Given the description of an element on the screen output the (x, y) to click on. 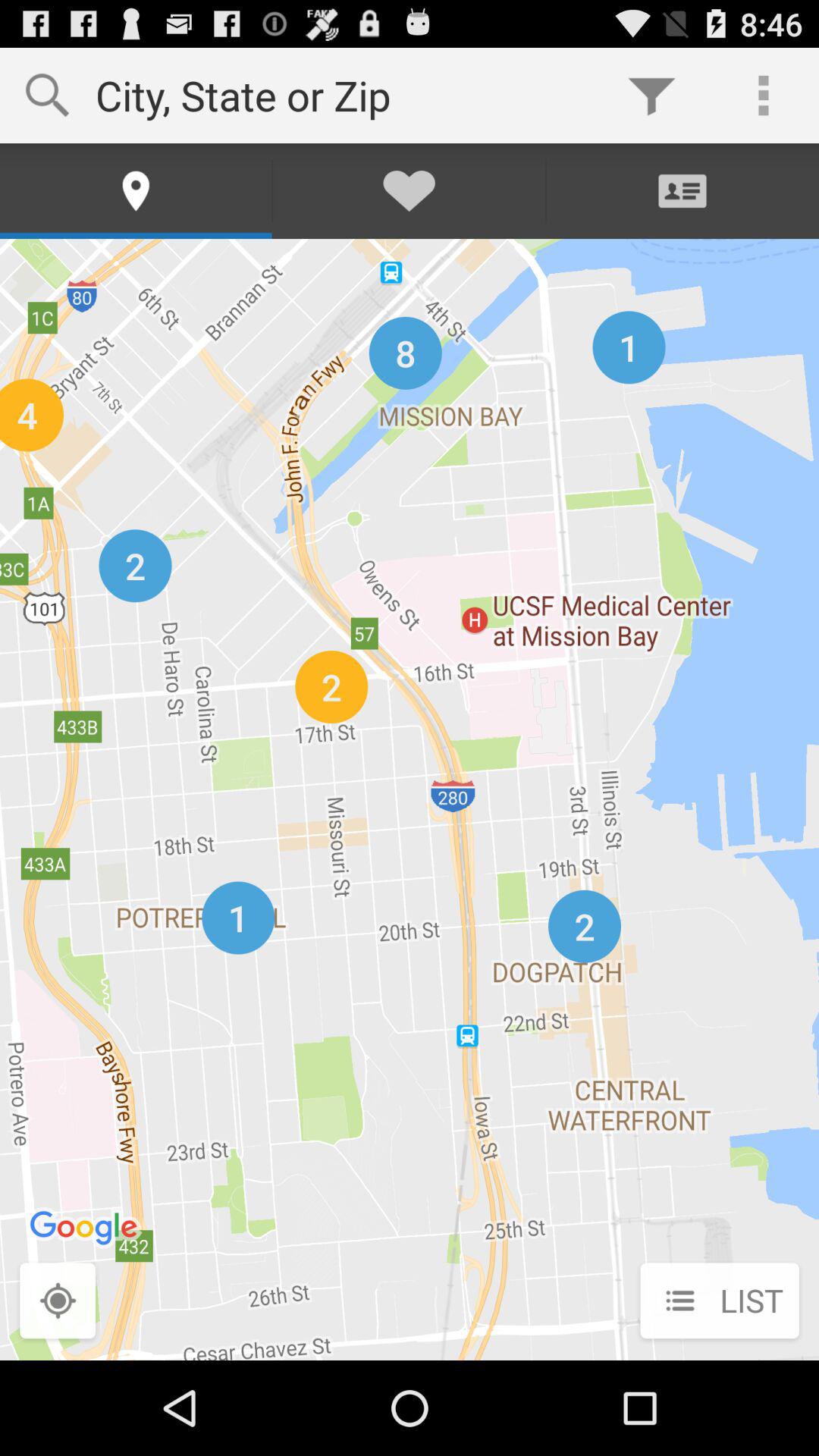
click item to the left of list button (57, 1302)
